Given the description of an element on the screen output the (x, y) to click on. 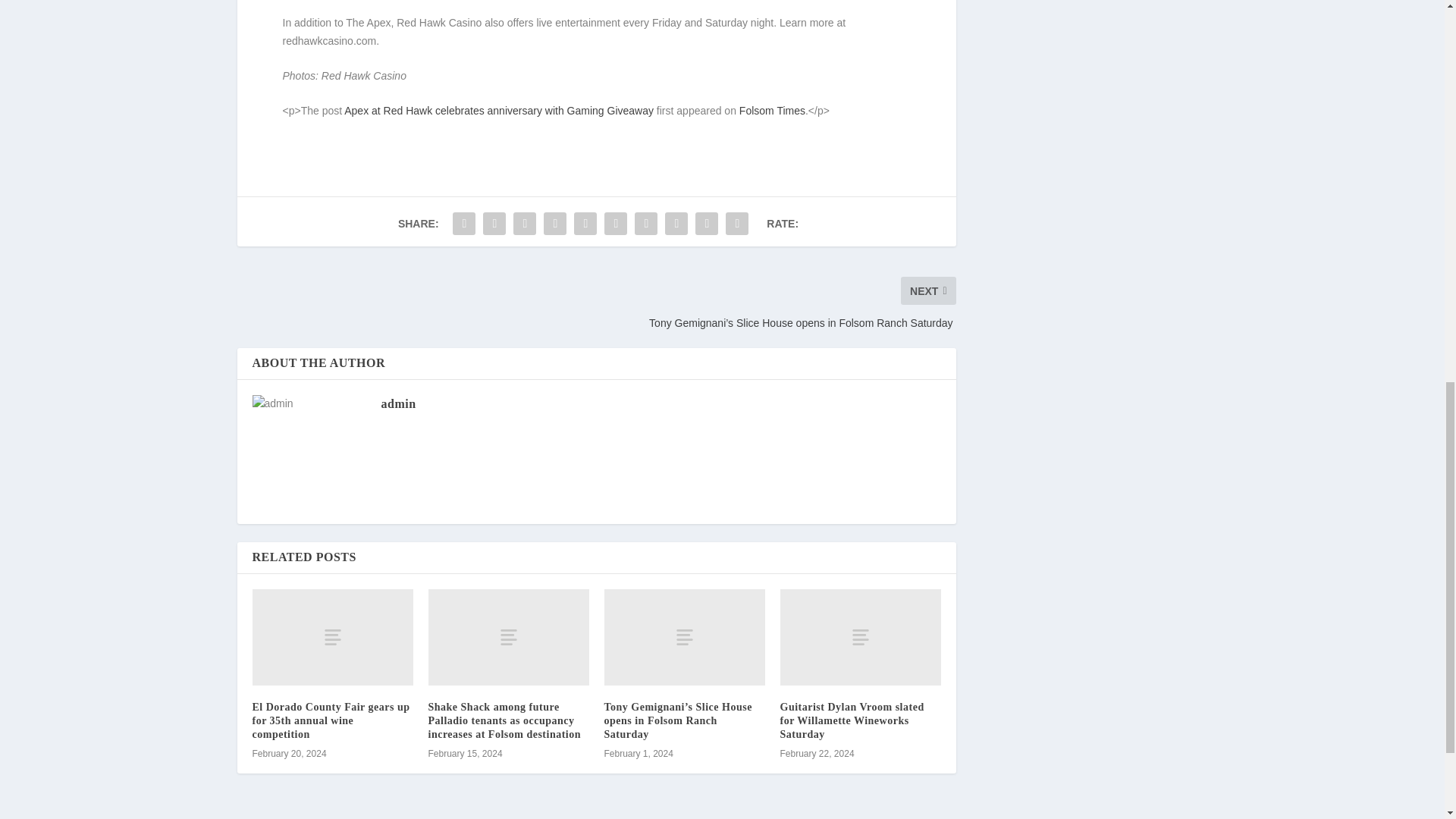
View all posts by admin (397, 403)
Apex at Red Hawk celebrates anniversary with Gaming Giveaway (498, 110)
Folsom Times (772, 110)
admin (397, 403)
